Given the description of an element on the screen output the (x, y) to click on. 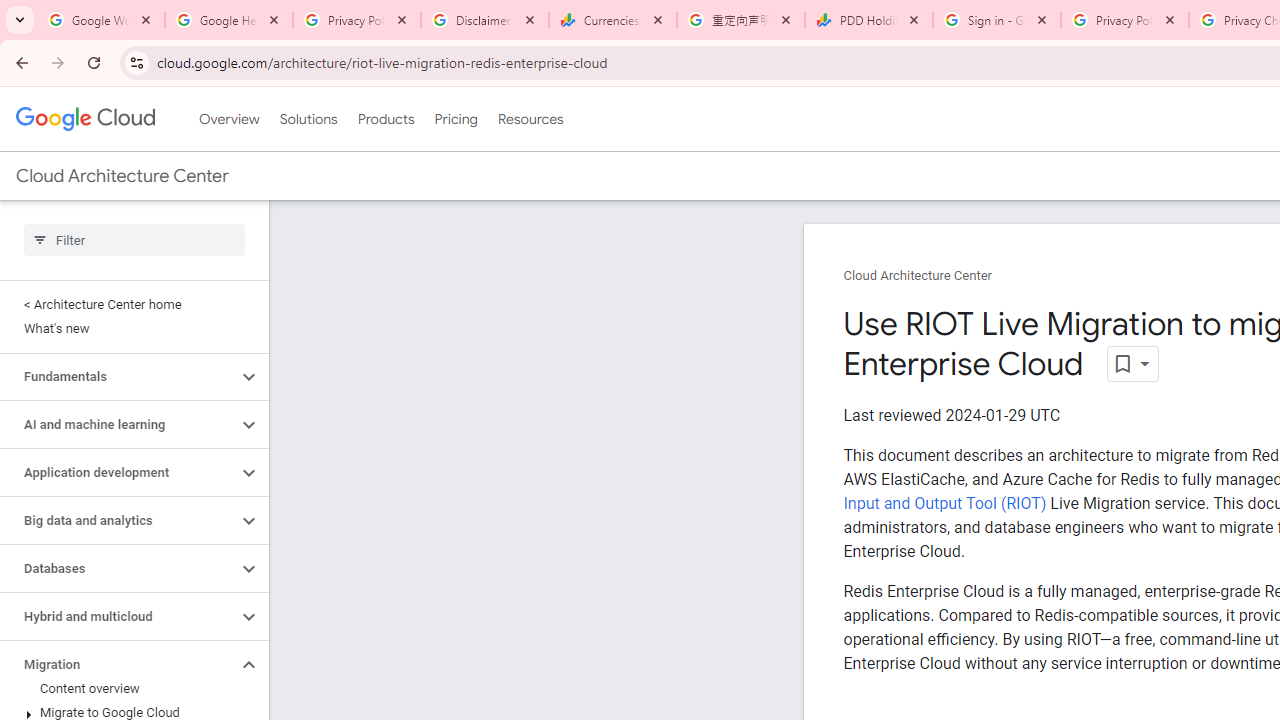
Databases (118, 569)
Application development (118, 472)
AI and machine learning (118, 425)
Resources (530, 119)
Hybrid and multicloud (118, 616)
What's new (130, 328)
Sign in - Google Accounts (997, 20)
Currencies - Google Finance (613, 20)
Products (385, 119)
Google Workspace Admin Community (101, 20)
